Given the description of an element on the screen output the (x, y) to click on. 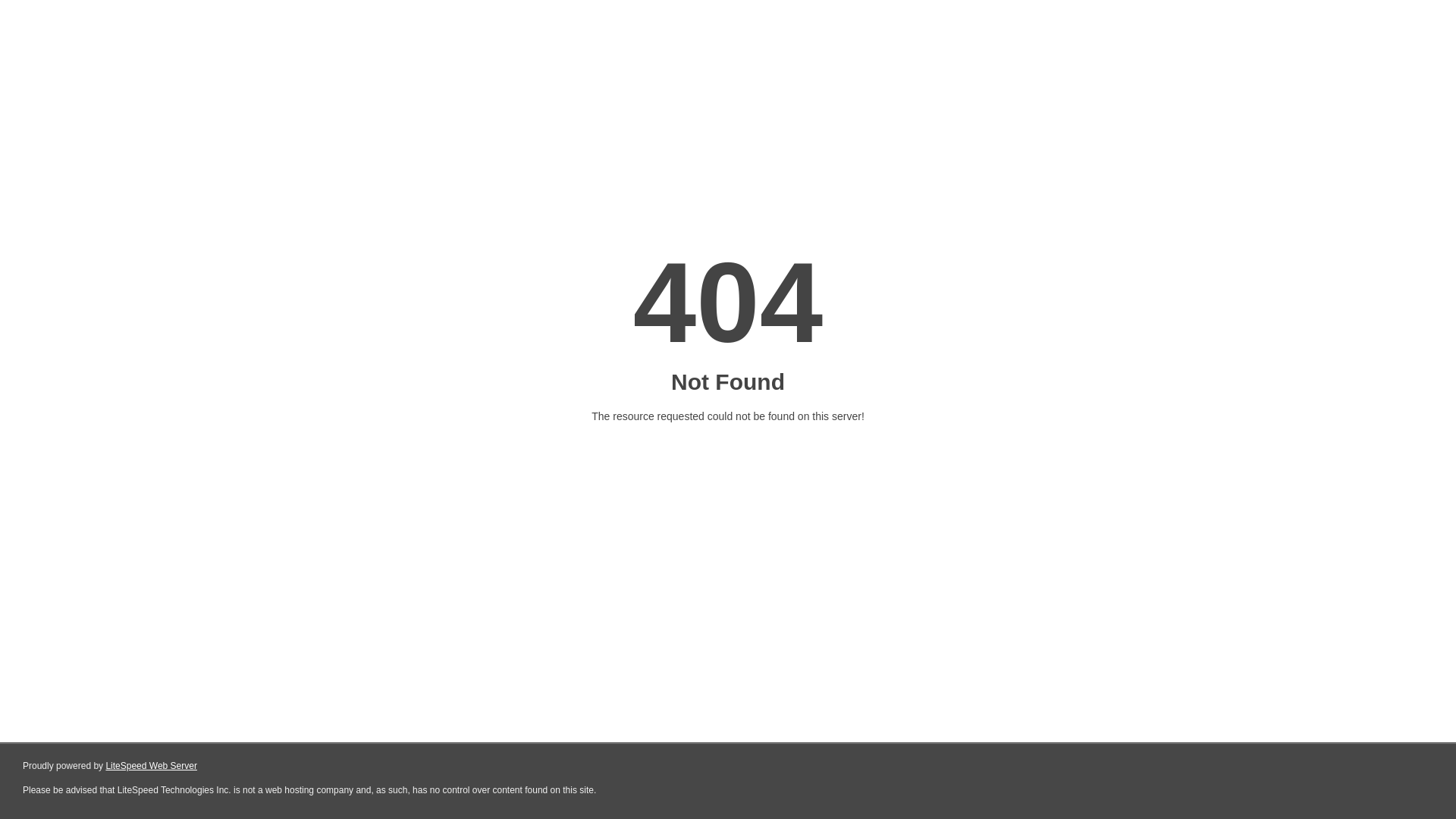
LiteSpeed Web Server Element type: text (151, 765)
